Given the description of an element on the screen output the (x, y) to click on. 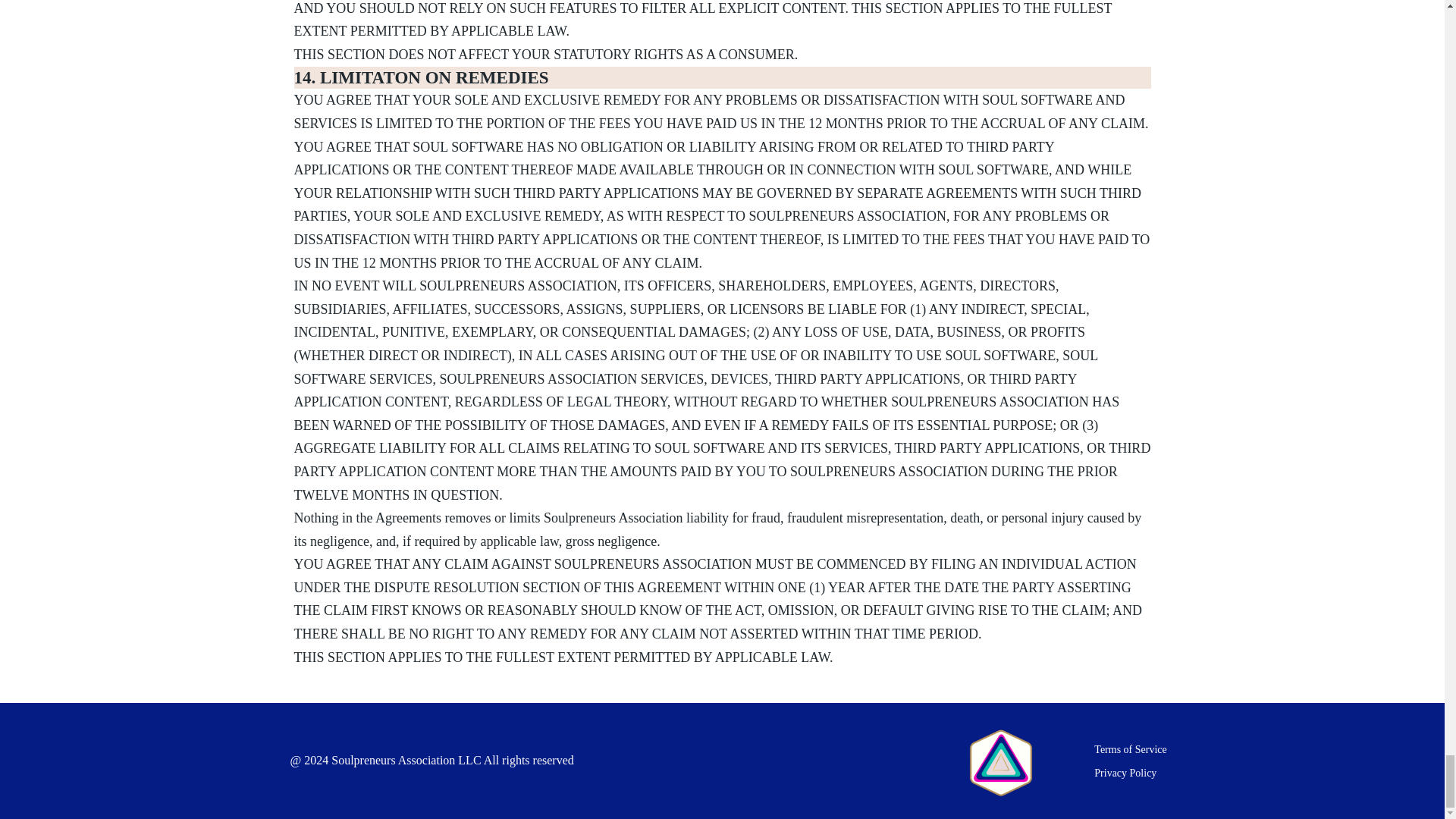
Privacy Policy (1125, 773)
Terms of Service (1130, 750)
